Given the description of an element on the screen output the (x, y) to click on. 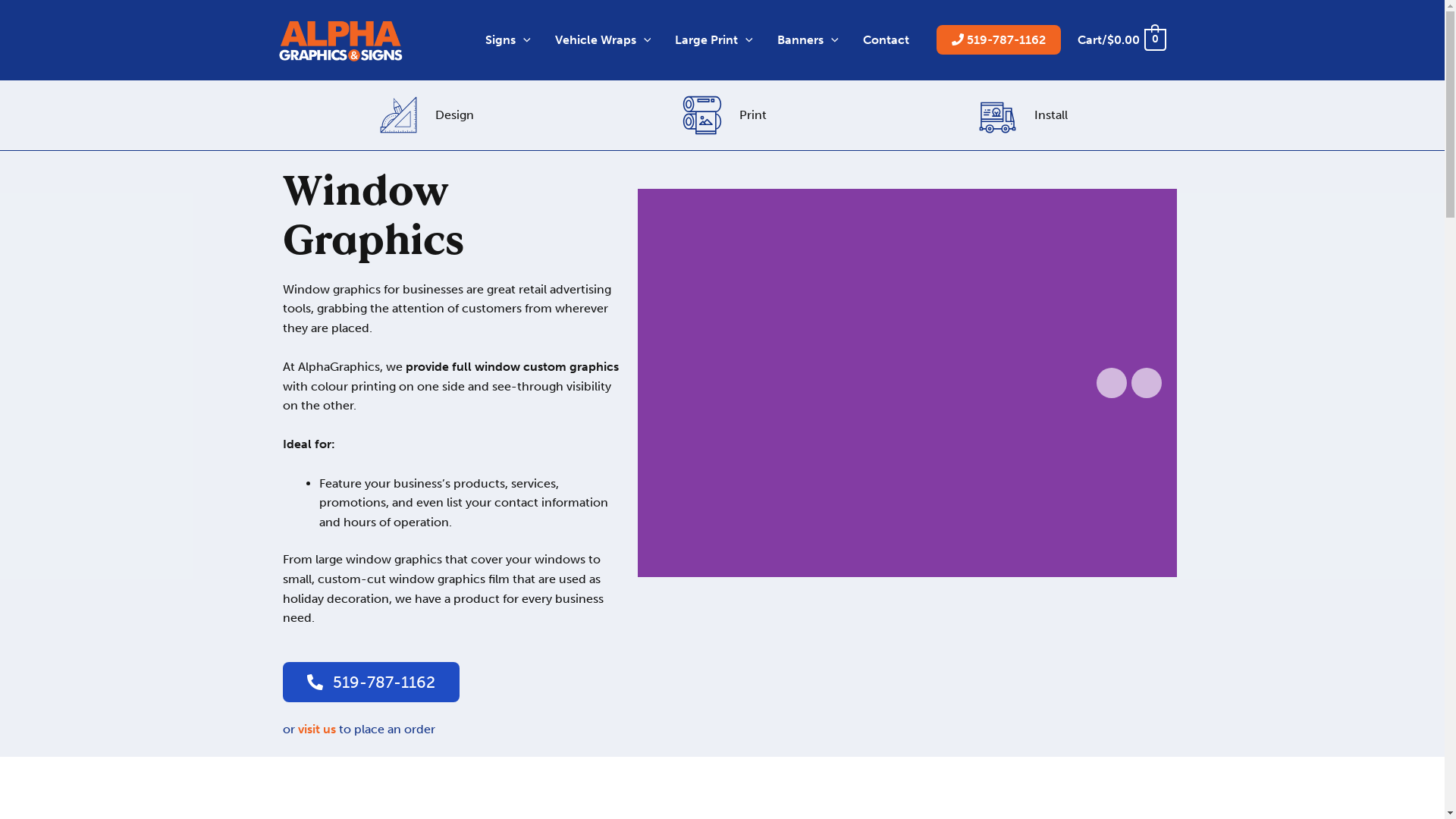
visit us Element type: text (316, 728)
Contact Element type: text (885, 40)
Large Print Element type: text (713, 40)
Vehicle Wraps Element type: text (602, 40)
519-787-1162 Element type: text (998, 39)
Signs Element type: text (507, 40)
519-787-1162 Element type: text (370, 682)
Cart/$0.00
0 Element type: text (1121, 39)
Banners Element type: text (807, 40)
